Given the description of an element on the screen output the (x, y) to click on. 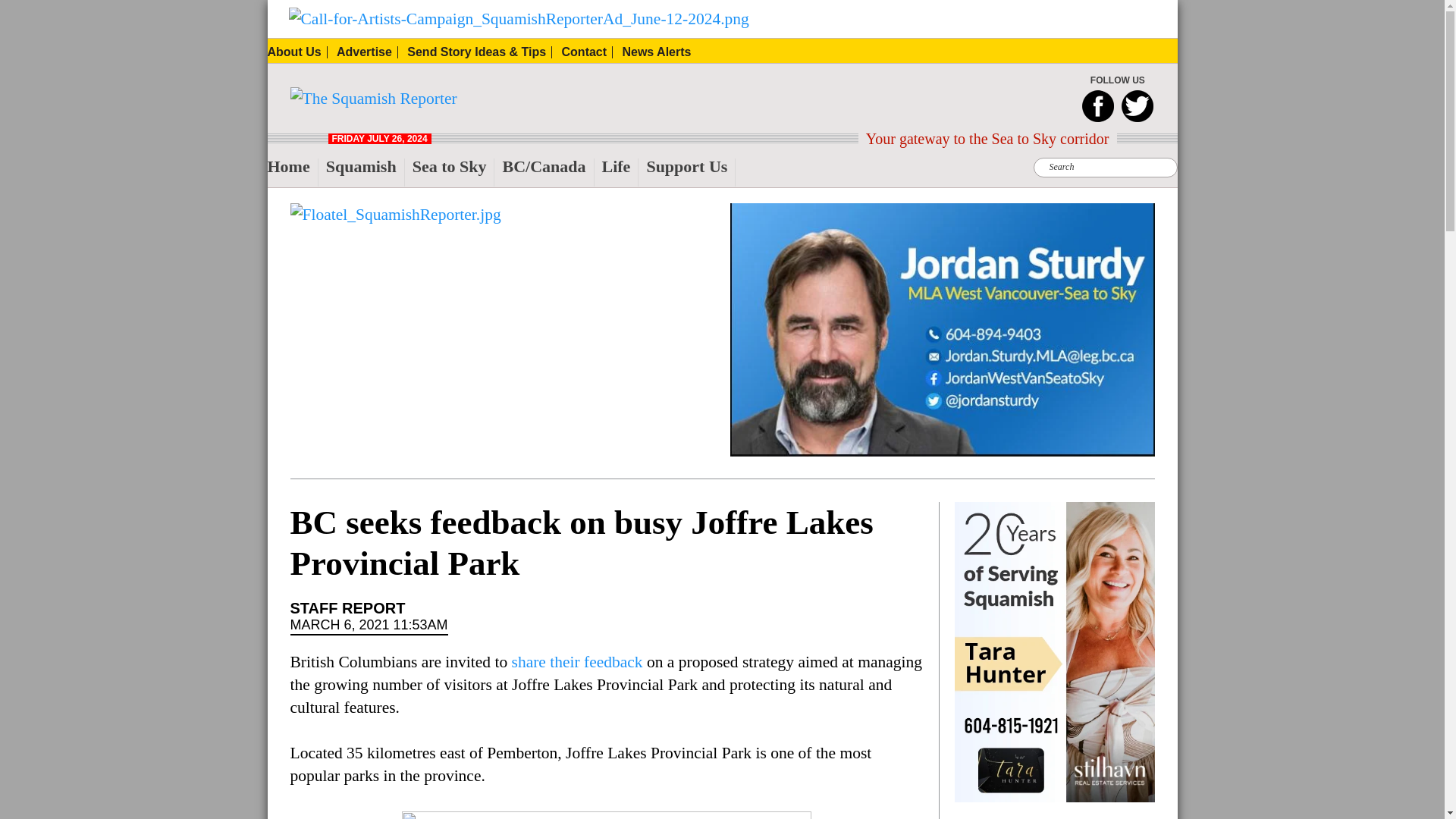
Sea to Sky (453, 172)
Search (455, 9)
About Us (296, 51)
Support Us (690, 172)
Life (620, 172)
Advertise (366, 51)
Home (291, 172)
Contact (587, 51)
The Squamish Reporter (321, 120)
share their feedback (577, 661)
News Alerts (655, 51)
Squamish (365, 172)
